Given the description of an element on the screen output the (x, y) to click on. 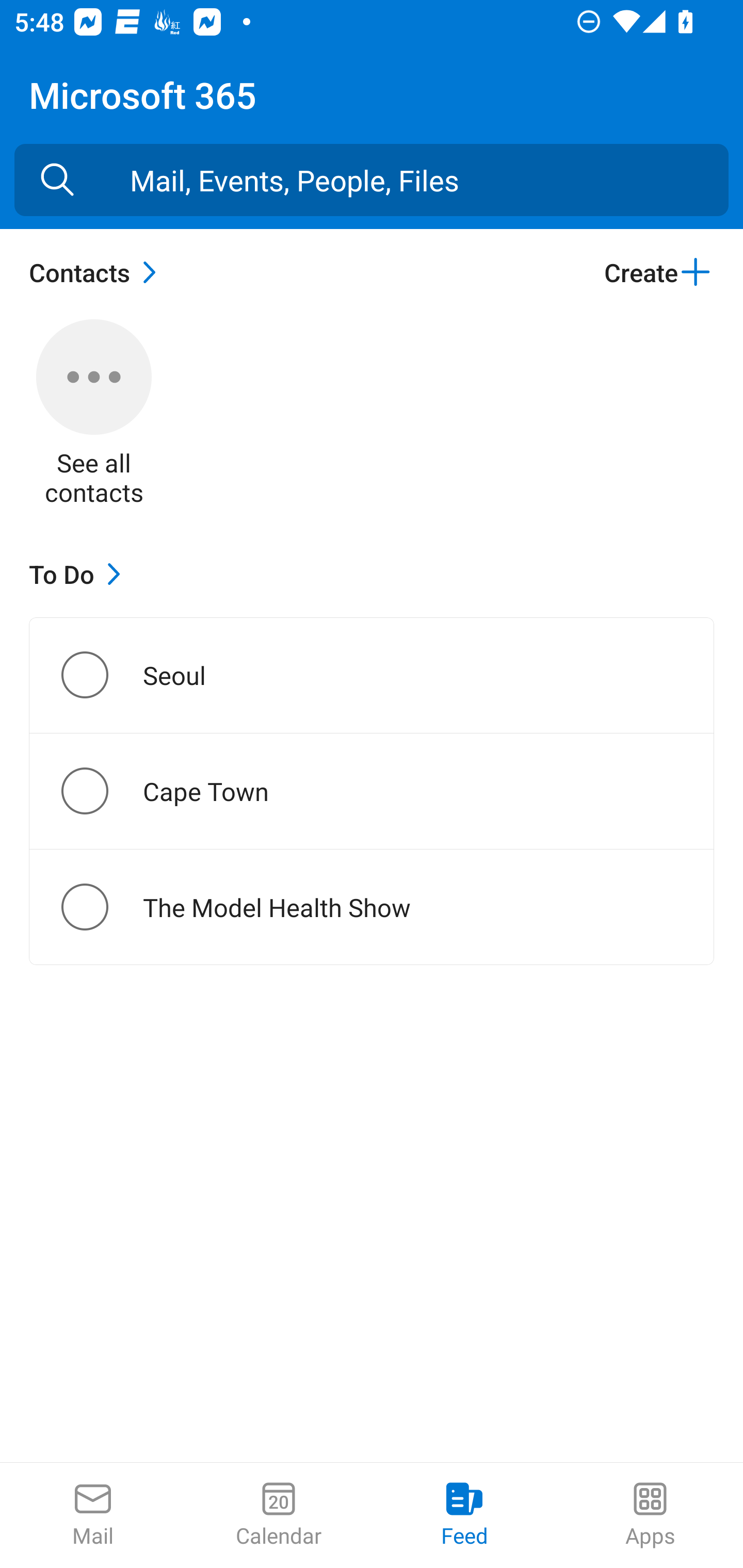
Search for Mail, Events, People, Files (57, 180)
Contacts (97, 271)
Create Create contact (658, 271)
See all contacts (93, 414)
To Do (79, 573)
Seoul Seoul Seoul. not completed (371, 674)
Seoul (101, 674)
Cape Town Cape Town Cape Town. not completed (371, 790)
Cape Town (101, 790)
The Model Health Show (101, 906)
Mail (92, 1515)
Calendar (278, 1515)
Apps (650, 1515)
